Given the description of an element on the screen output the (x, y) to click on. 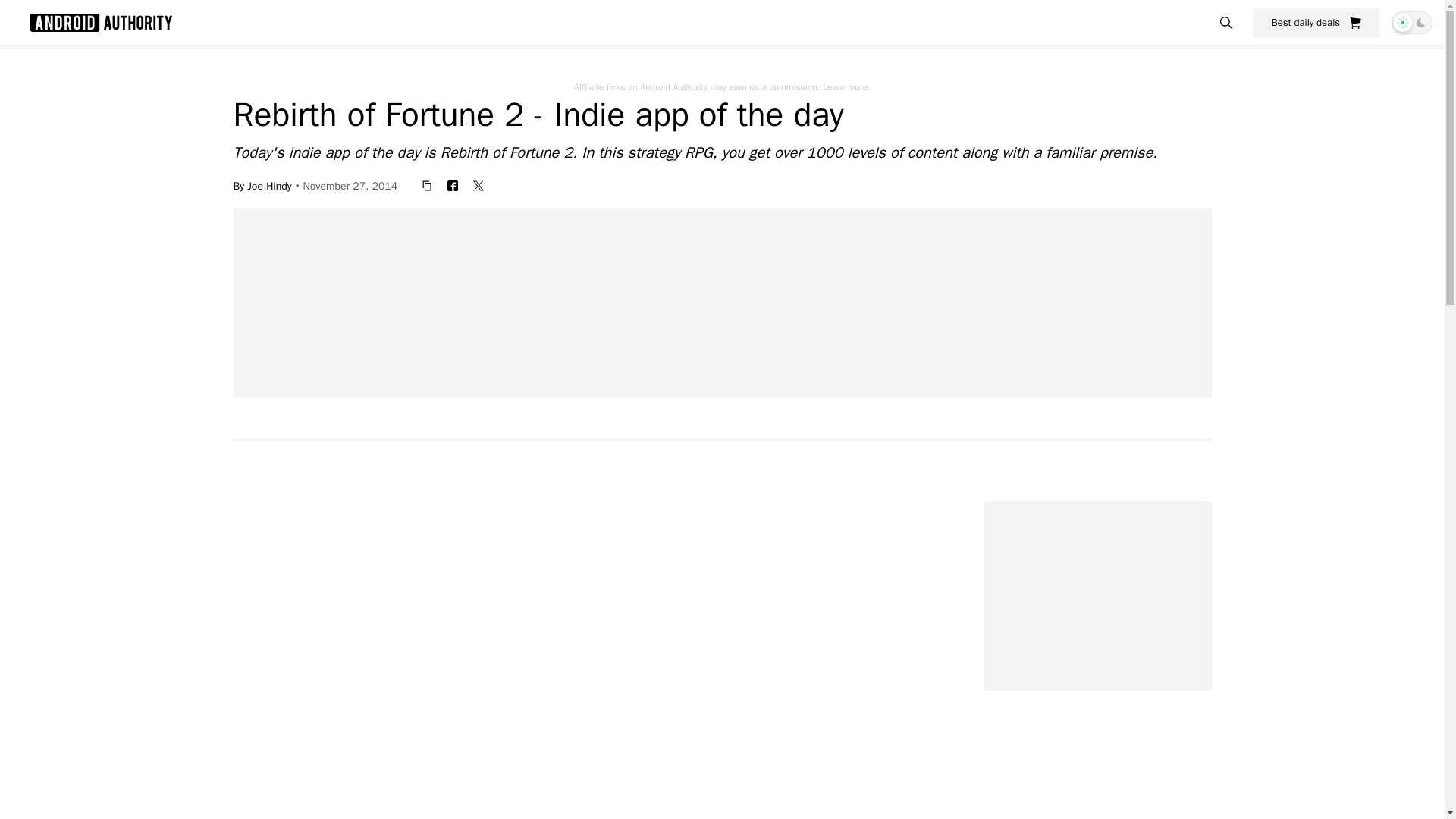
Joe Hindy (269, 185)
Best daily deals (1315, 22)
facebook (452, 185)
twitter (478, 185)
Learn more. (846, 86)
